Given the description of an element on the screen output the (x, y) to click on. 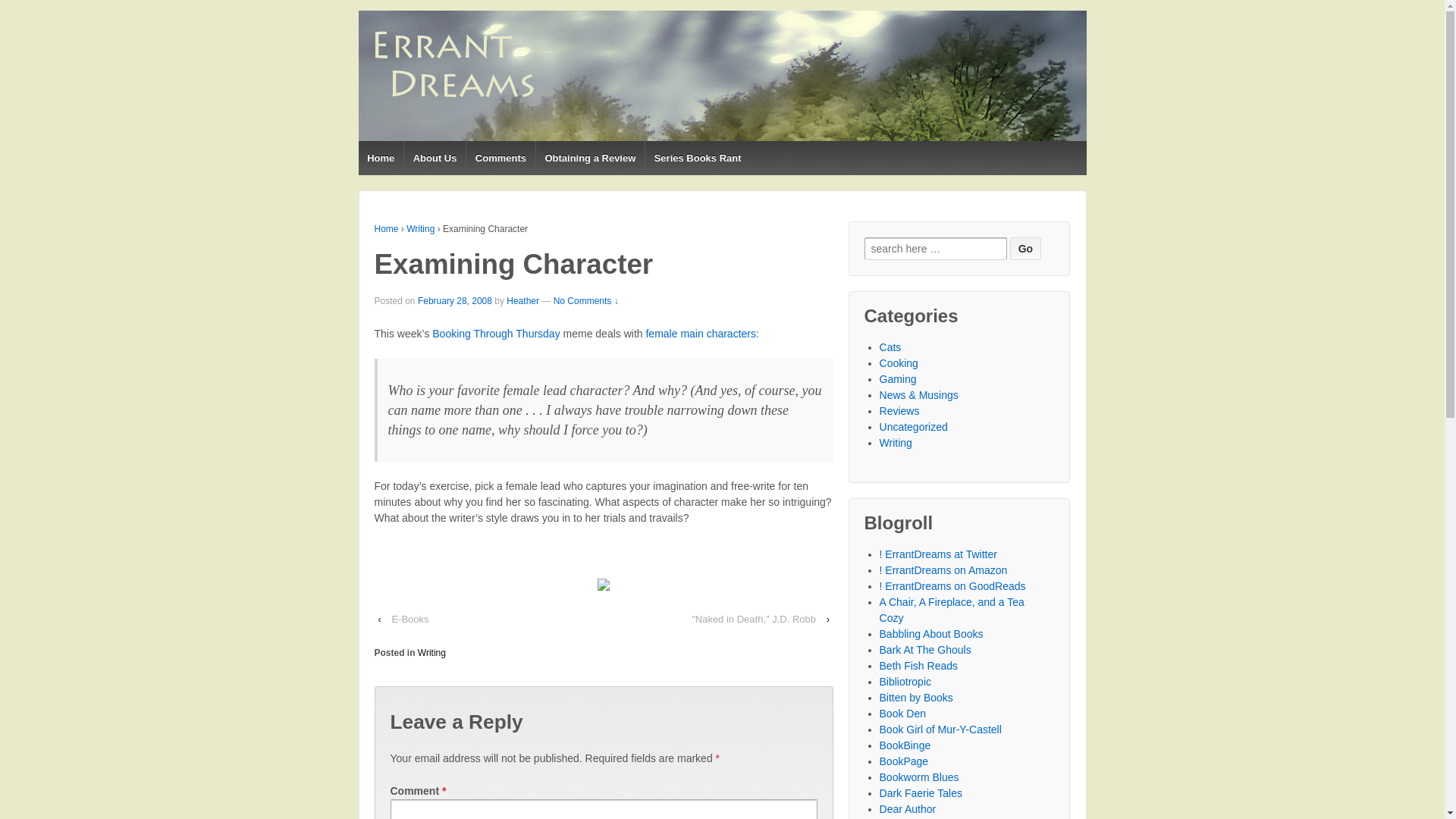
Bark At The Ghouls (925, 649)
E-Books (409, 619)
Comments (500, 157)
About Us (434, 157)
Keep up with our new reviews! (938, 553)
Speculative fiction reviews (905, 681)
! ErrantDreams on GoodReads (952, 585)
Genre book reviews (916, 697)
Uncategorized (913, 426)
Beth Fish Reads (918, 665)
Romance Reviews (905, 745)
A Chair, A Fireplace, and a Tea Cozy (952, 610)
Writing (419, 228)
Go (1025, 248)
Heather (522, 300)
